Given the description of an element on the screen output the (x, y) to click on. 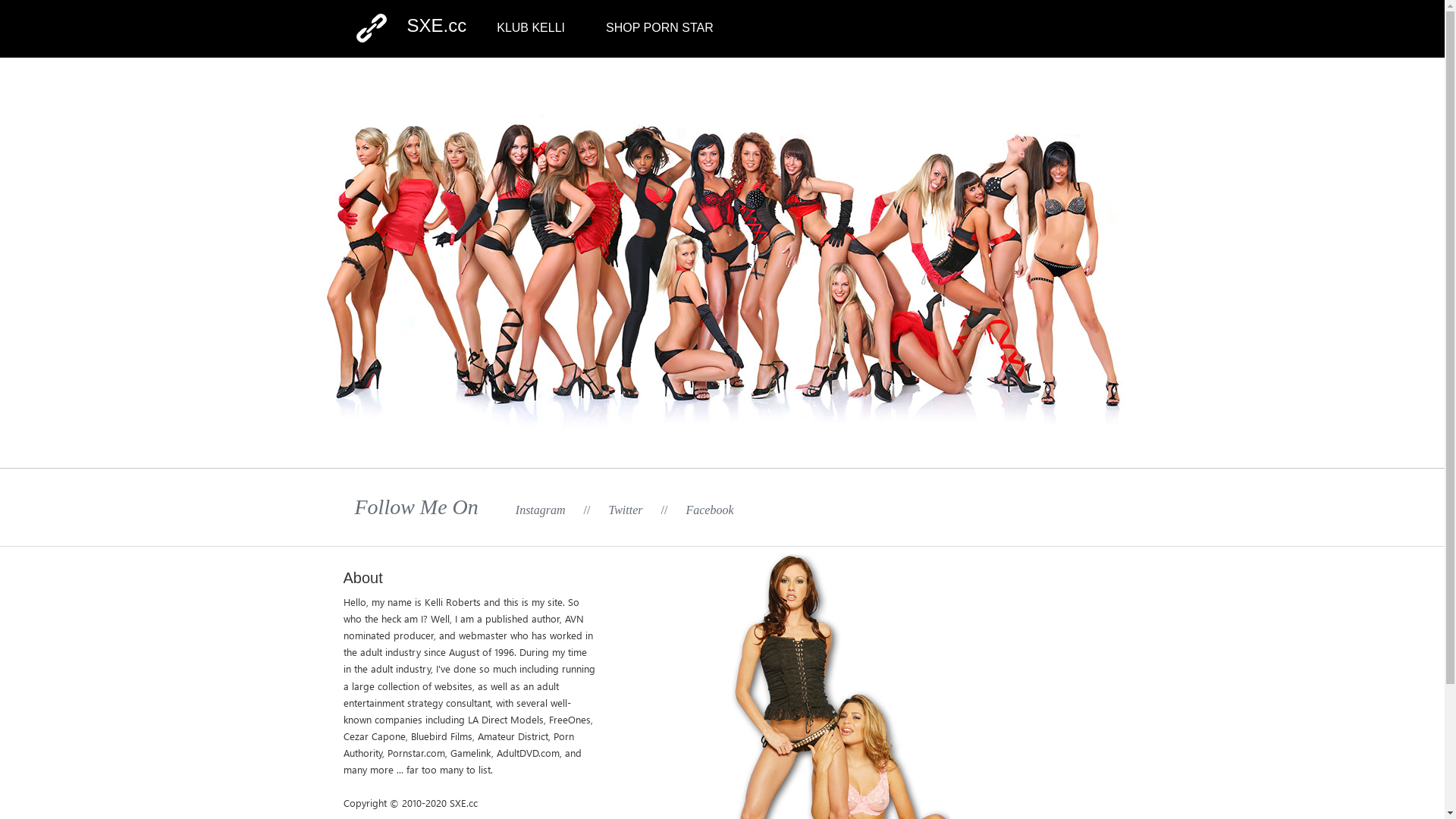
Facebook Element type: text (709, 509)
SHOP PORN STAR Element type: text (659, 27)
Instagram Element type: text (540, 509)
Twitter Element type: text (625, 509)
SXE.cc Element type: text (436, 25)
KLUB KELLI Element type: text (530, 27)
